Given the description of an element on the screen output the (x, y) to click on. 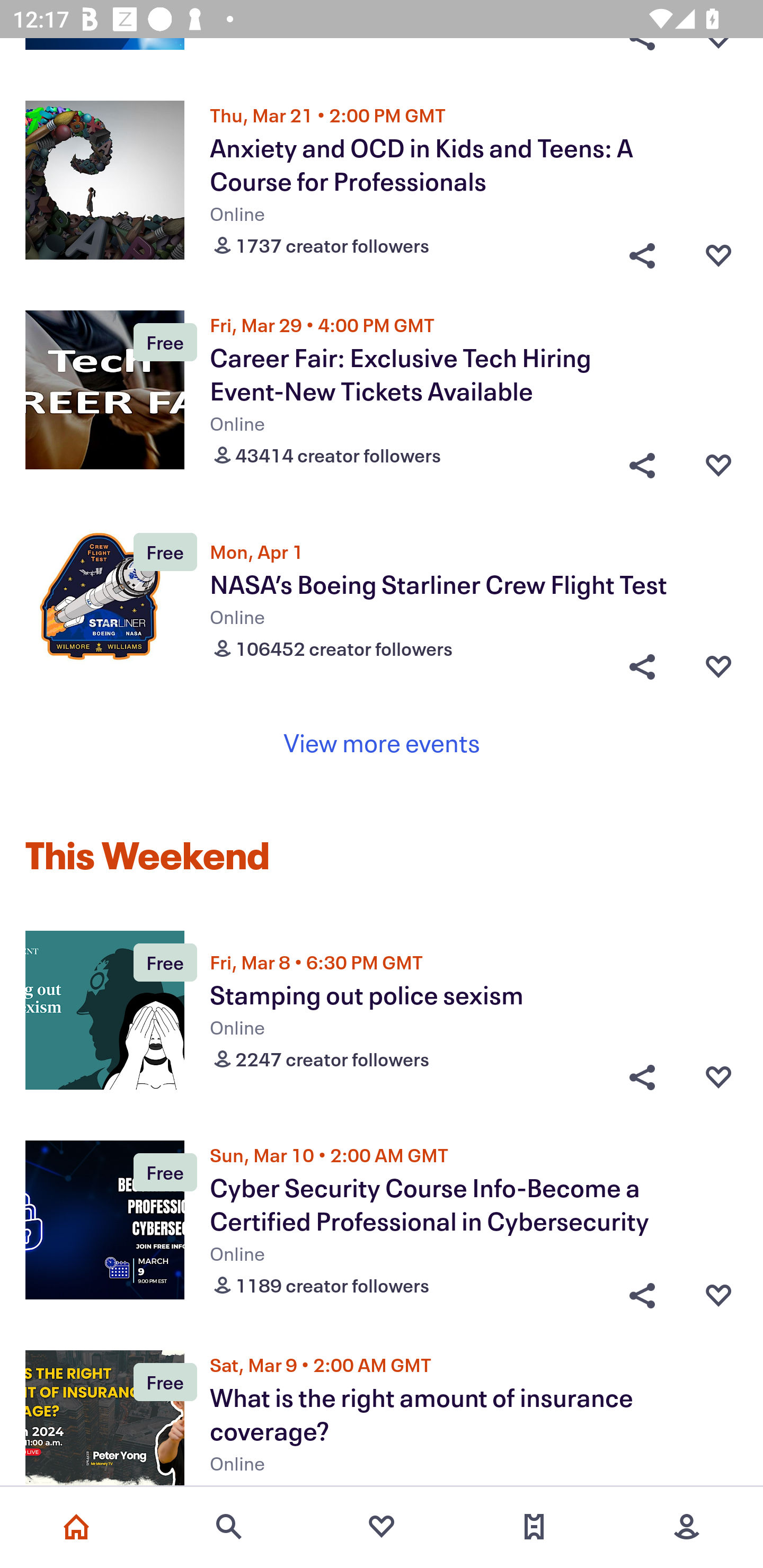
Share button (642, 251)
Favorite button (718, 251)
Share button (642, 461)
Favorite button (718, 461)
Share button (642, 666)
Favorite button (718, 666)
View more events (381, 742)
Share button (642, 1076)
Favorite button (718, 1076)
Share button (642, 1290)
Favorite button (718, 1290)
Home (76, 1526)
Search events (228, 1526)
Favorites (381, 1526)
Tickets (533, 1526)
More (686, 1526)
